Given the description of an element on the screen output the (x, y) to click on. 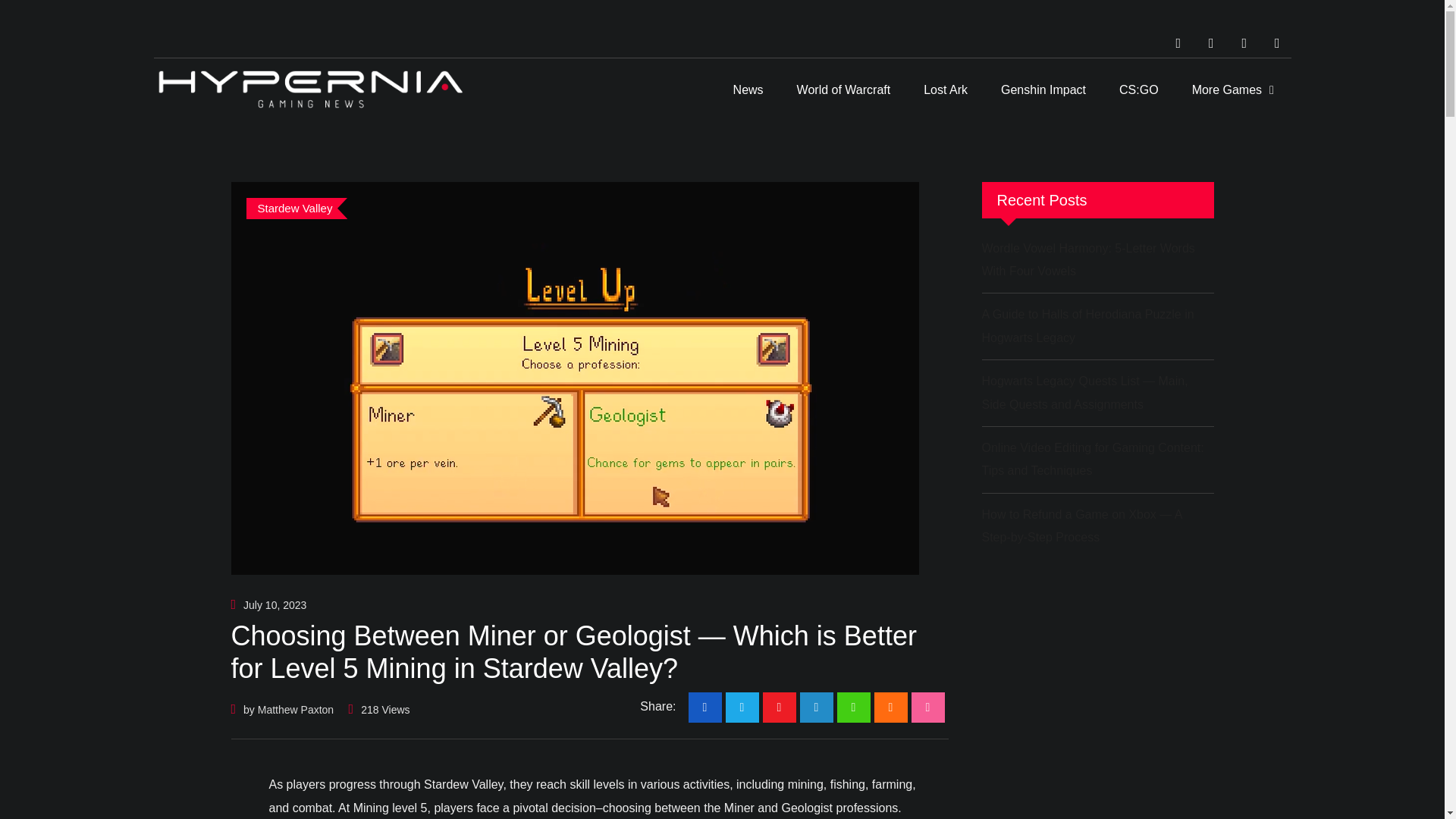
More Games (1232, 89)
Lost Ark (945, 89)
Stardew Valley (296, 208)
CS:GO (1138, 89)
Genshin Impact (1043, 89)
World of Warcraft (843, 89)
News (748, 89)
Posts by Matthew Paxton (295, 709)
Matthew Paxton (295, 709)
